Given the description of an element on the screen output the (x, y) to click on. 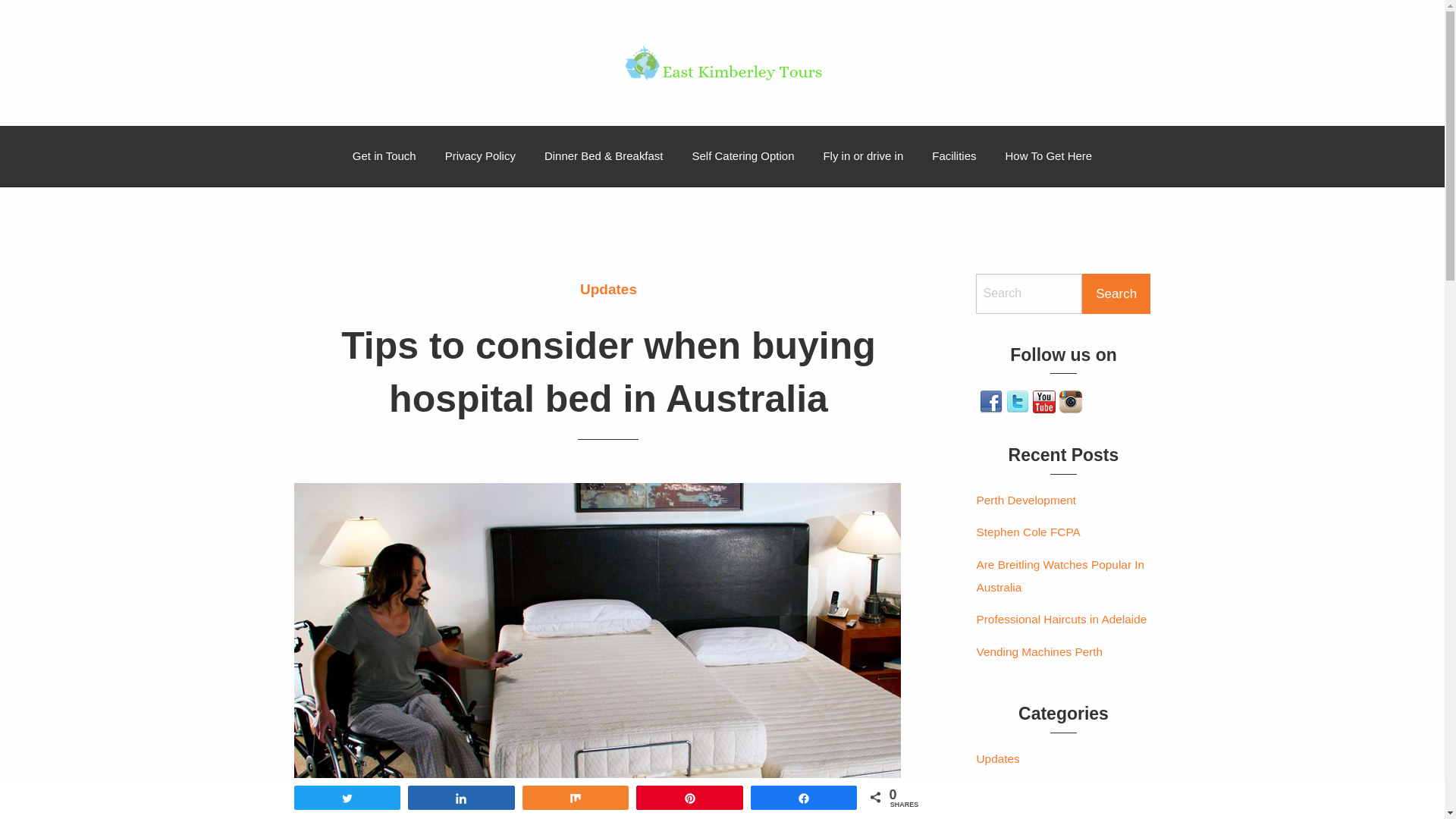
Search Element type: text (1116, 293)
East Kimberley Tours Element type: text (193, 123)
Self Catering Option Element type: text (743, 156)
Privacy Policy Element type: text (480, 156)
Stephen Cole FCPA Element type: text (1027, 531)
Are Breitling Watches Popular In Australia Element type: text (1062, 576)
Updates Element type: text (608, 288)
Vending Machines Perth Element type: text (1038, 651)
Get in Touch Element type: text (384, 156)
Updates Element type: text (997, 758)
Perth Development Element type: text (1025, 500)
Fly in or drive in Element type: text (862, 156)
Professional Haircuts in Adelaide Element type: text (1060, 619)
How To Get Here Element type: text (1049, 156)
Facilities Element type: text (953, 156)
Dinner Bed & Breakfast Element type: text (603, 156)
